Given the description of an element on the screen output the (x, y) to click on. 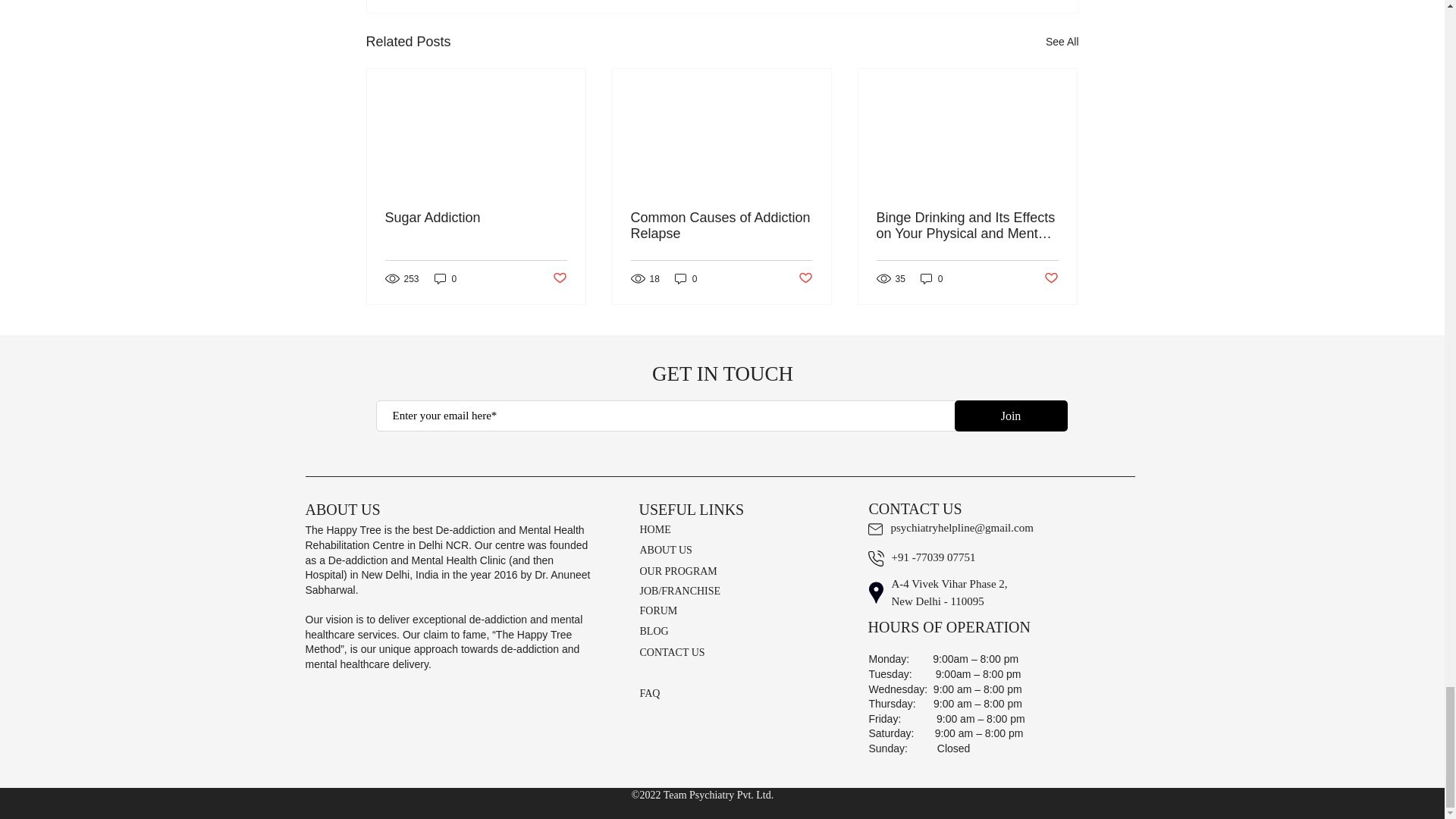
0 (685, 278)
Sugar Addiction (476, 217)
Post not marked as liked (558, 278)
See All (1061, 42)
0 (445, 278)
Common Causes of Addiction Relapse (721, 225)
